Given the description of an element on the screen output the (x, y) to click on. 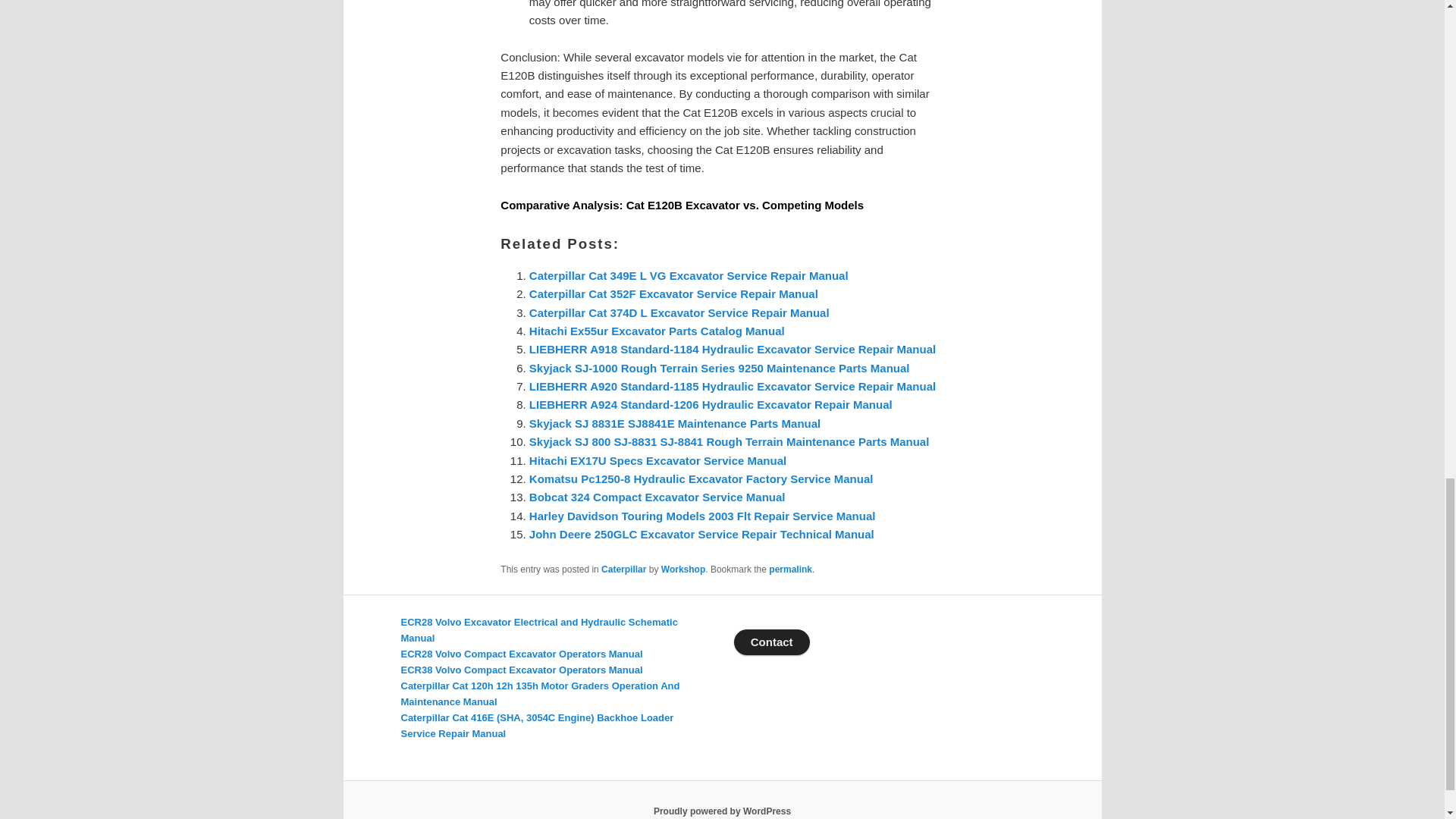
Caterpillar Cat 374D L Excavator Service Repair Manual (679, 312)
Contact (771, 642)
Caterpillar Cat 349E L VG Excavator Service Repair Manual (688, 275)
Caterpillar Cat 374D L Excavator Service Repair Manual (679, 312)
ECR38 Volvo Compact Excavator Operators Manual (521, 669)
Skyjack SJ 8831E SJ8841E Maintenance Parts Manual (675, 422)
